Given the description of an element on the screen output the (x, y) to click on. 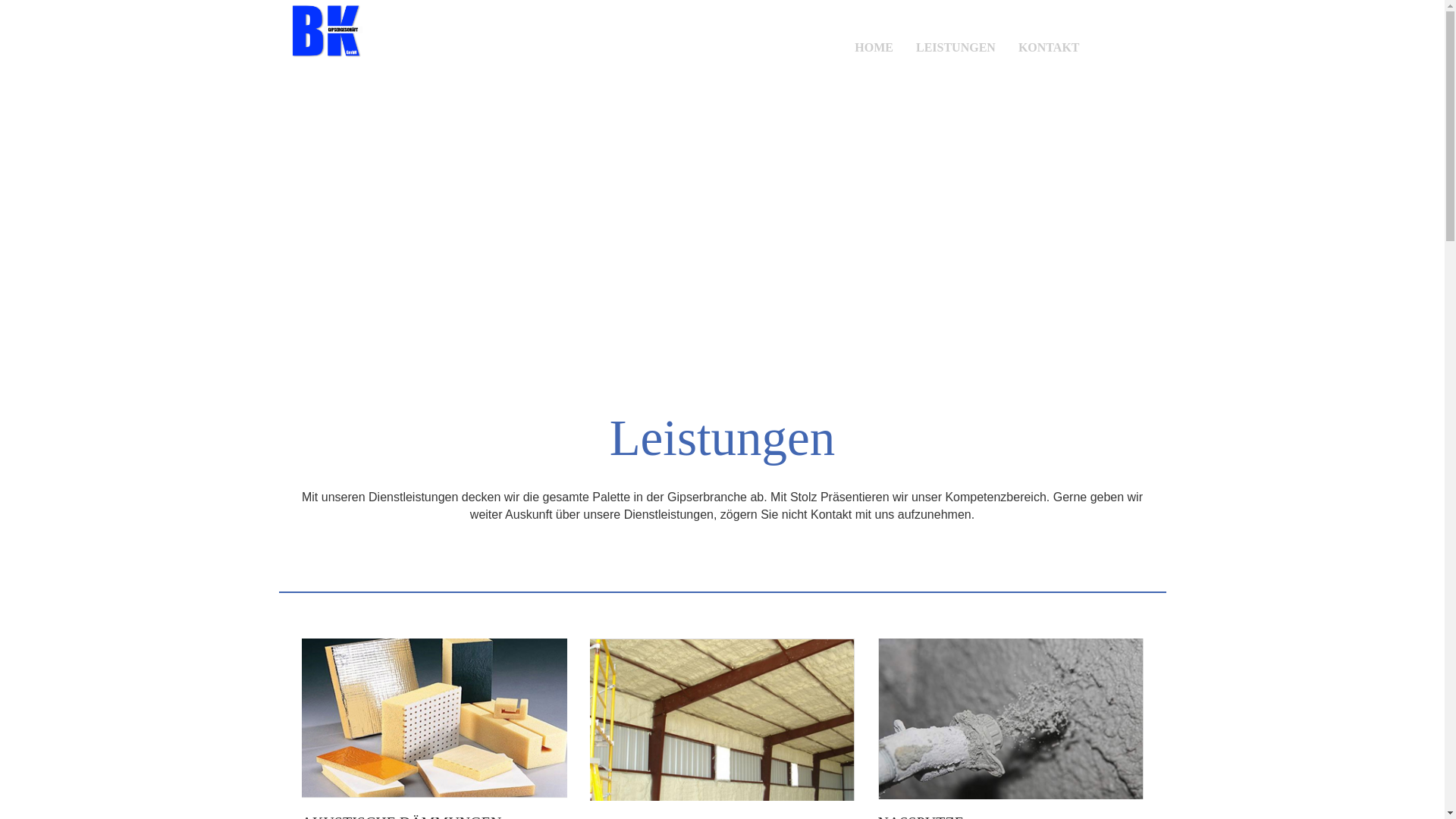
HOME Element type: text (873, 39)
KONTAKT Element type: text (1049, 39)
LEISTUNGEN Element type: text (955, 39)
